Given the description of an element on the screen output the (x, y) to click on. 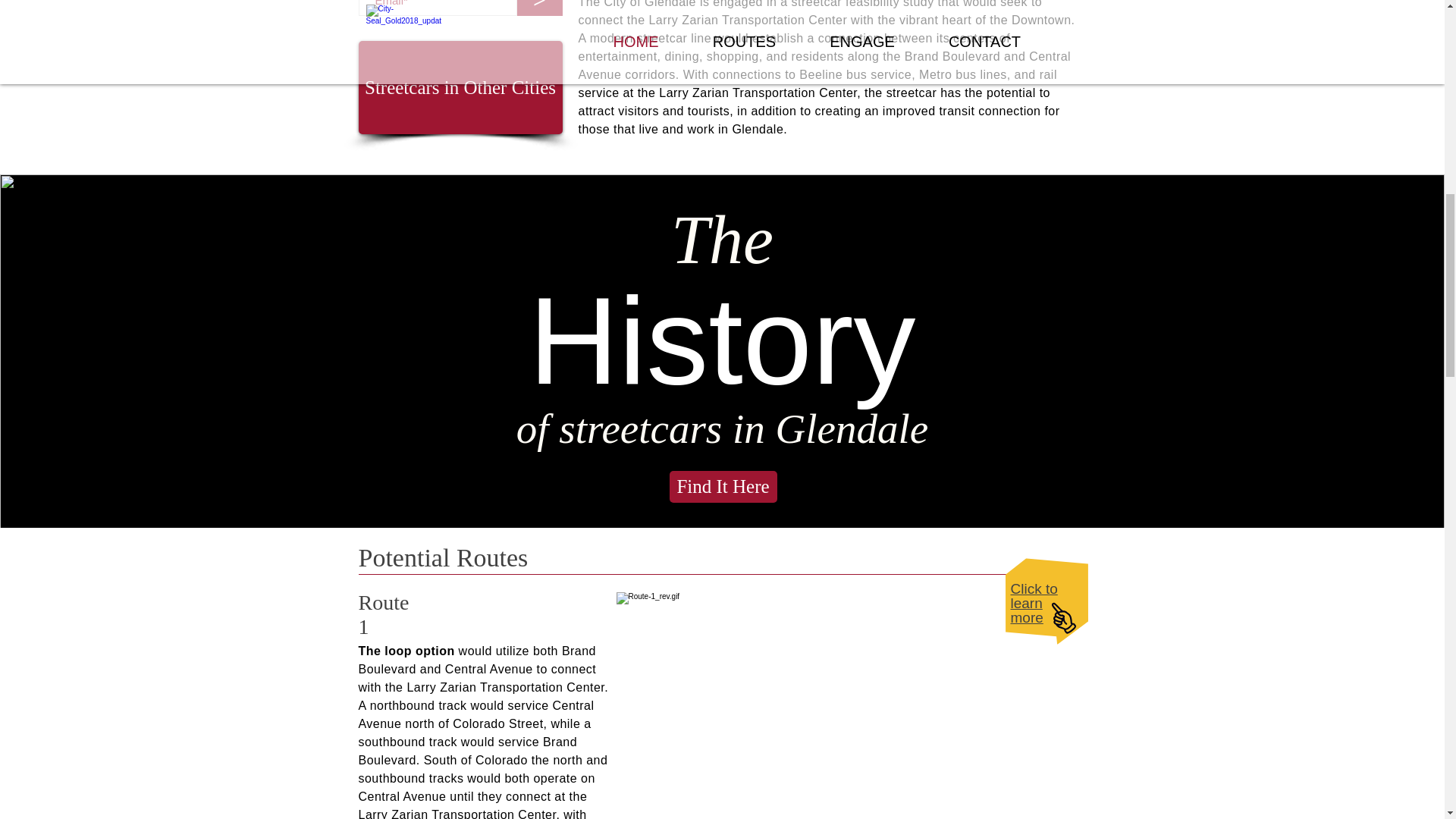
History (721, 340)
of streetcars in Glendale (722, 428)
more (1026, 617)
The (722, 239)
learn (1026, 602)
Click to (1033, 588)
Streetcars in Other Cities (460, 87)
Find It Here (722, 486)
